Given the description of an element on the screen output the (x, y) to click on. 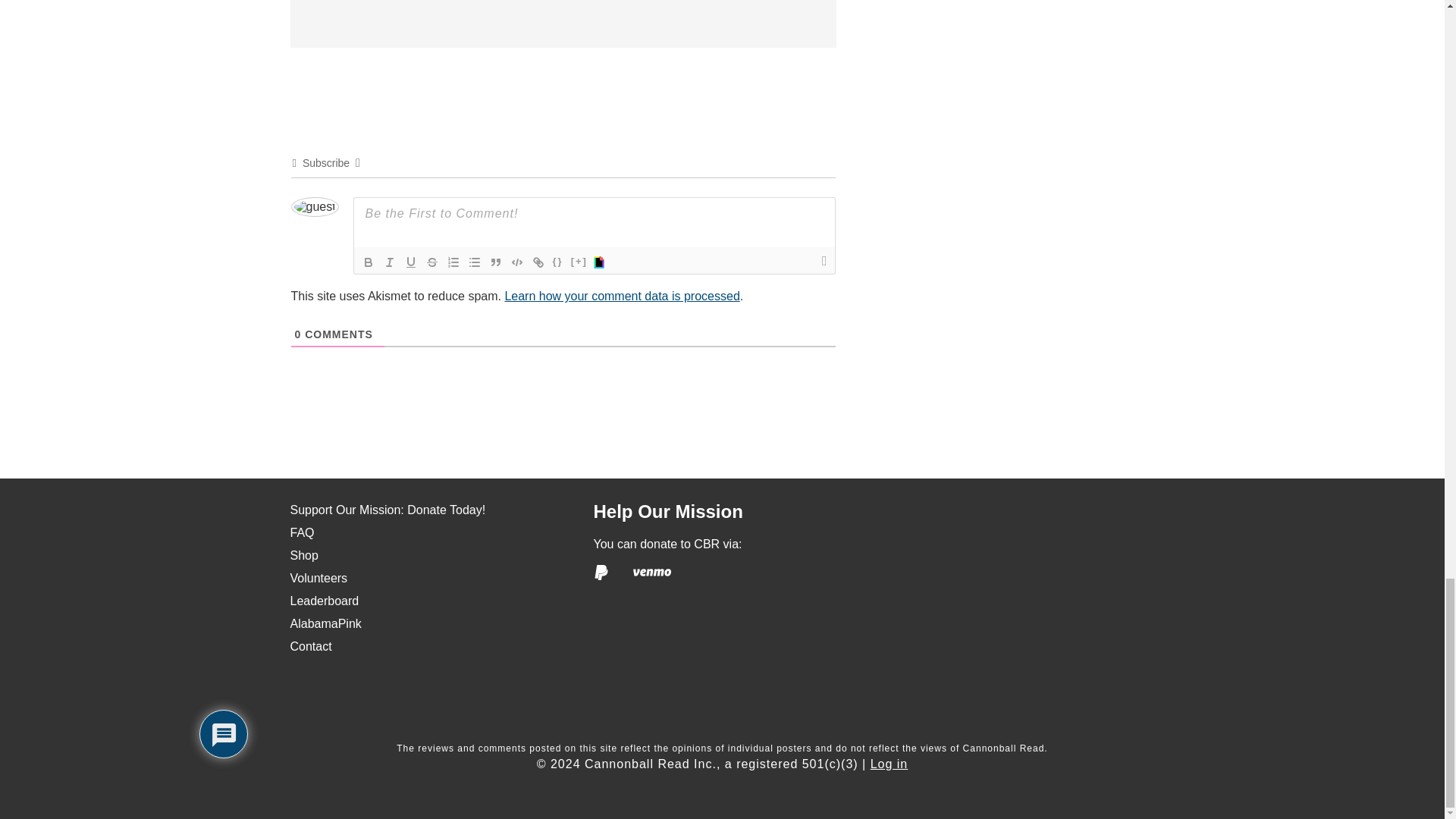
PayPal (600, 572)
Venmo (652, 572)
